Given the description of an element on the screen output the (x, y) to click on. 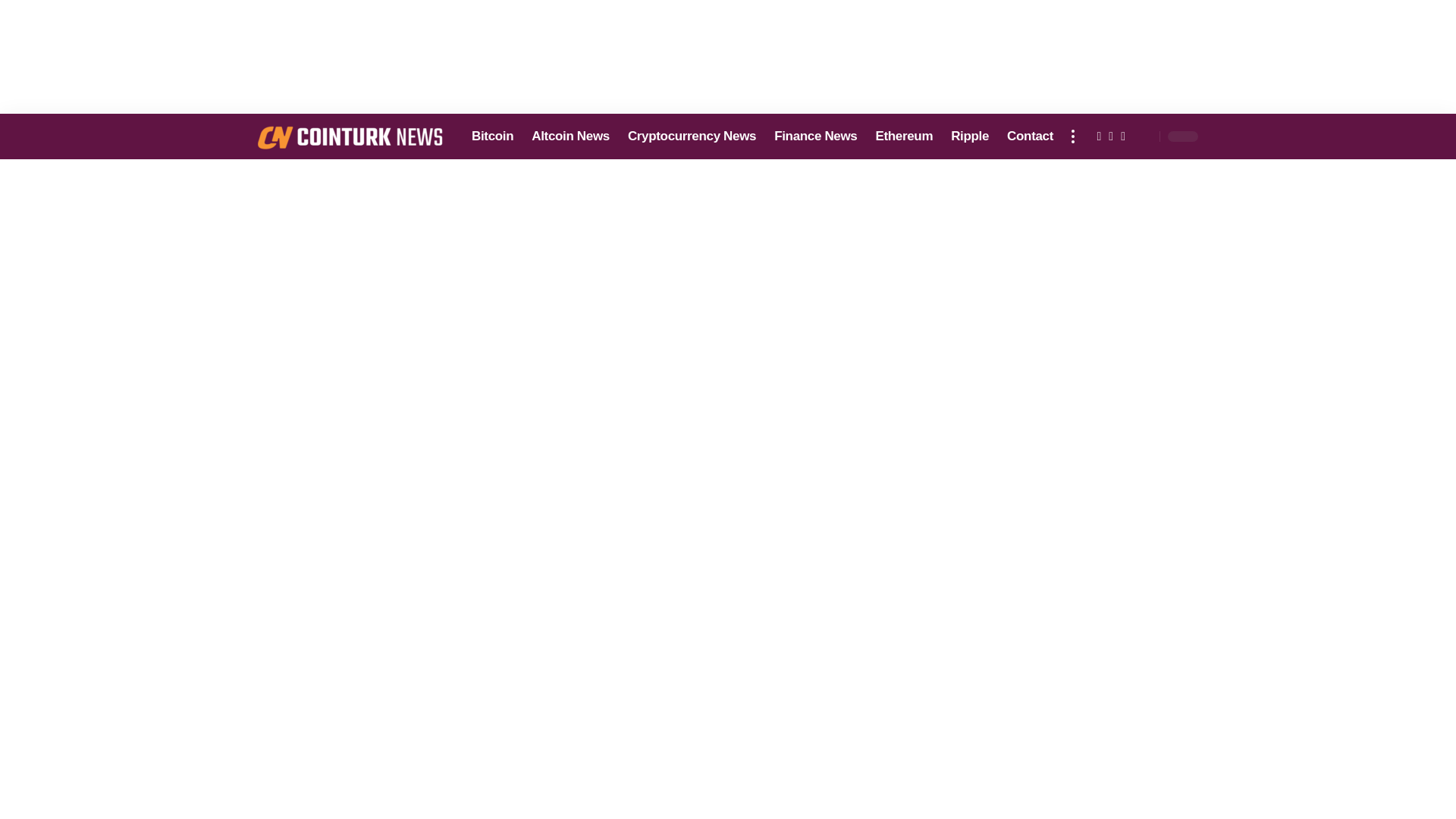
COINTURK NEWS (351, 135)
